Given the description of an element on the screen output the (x, y) to click on. 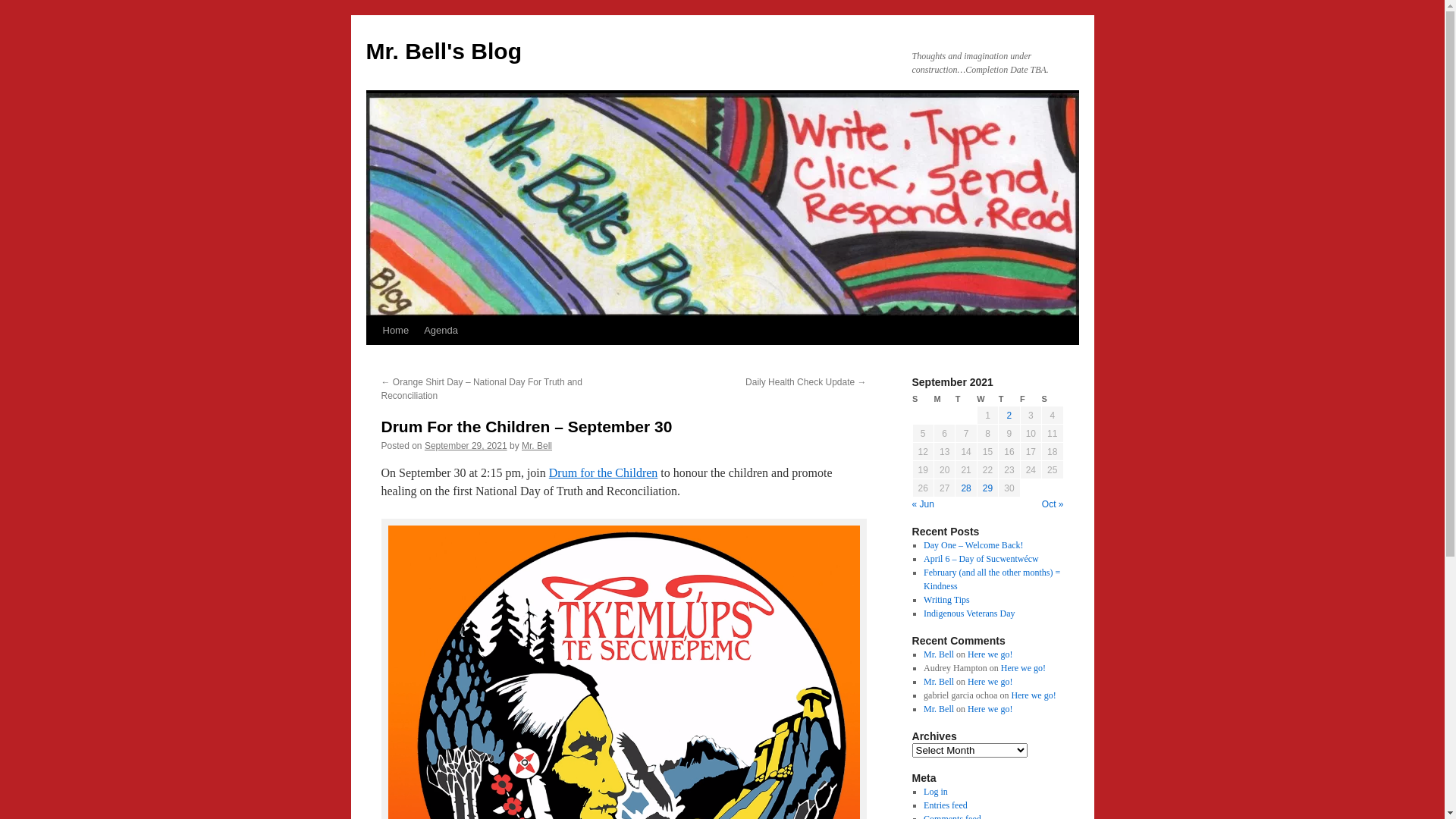
Mr. Bell Element type: text (938, 708)
Here we go! Element type: text (989, 681)
Writing Tips Element type: text (946, 599)
September 29, 2021 Element type: text (465, 445)
2 Element type: text (1009, 415)
28 Element type: text (965, 488)
Here we go! Element type: text (989, 654)
Indigenous Veterans Day Element type: text (968, 613)
Mr. Bell Element type: text (938, 681)
Mr. Bell Element type: text (938, 654)
Mr. Bell Element type: text (536, 445)
Skip to content Element type: text (372, 358)
Drum for the Children Element type: text (603, 472)
Mr. Bell's Blog Element type: text (443, 50)
Here we go! Element type: text (1032, 695)
Log in Element type: text (935, 791)
29 Element type: text (987, 488)
Entries feed Element type: text (945, 805)
Here we go! Element type: text (1023, 667)
Agenda Element type: text (440, 330)
Home Element type: text (395, 330)
Here we go! Element type: text (989, 708)
February (and all the other months) = Kindness Element type: text (991, 579)
